Given the description of an element on the screen output the (x, y) to click on. 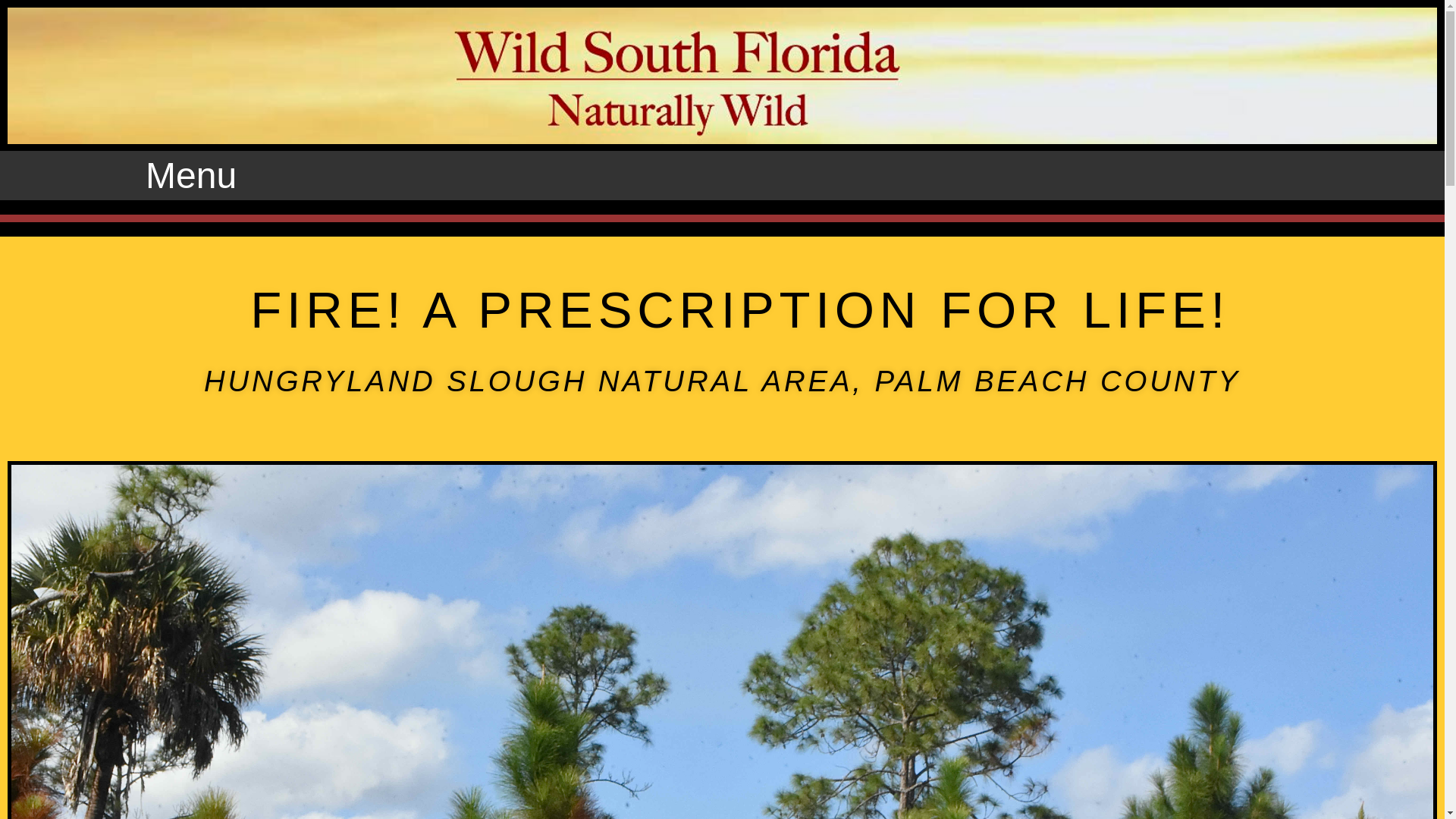
Menu (190, 174)
